Given the description of an element on the screen output the (x, y) to click on. 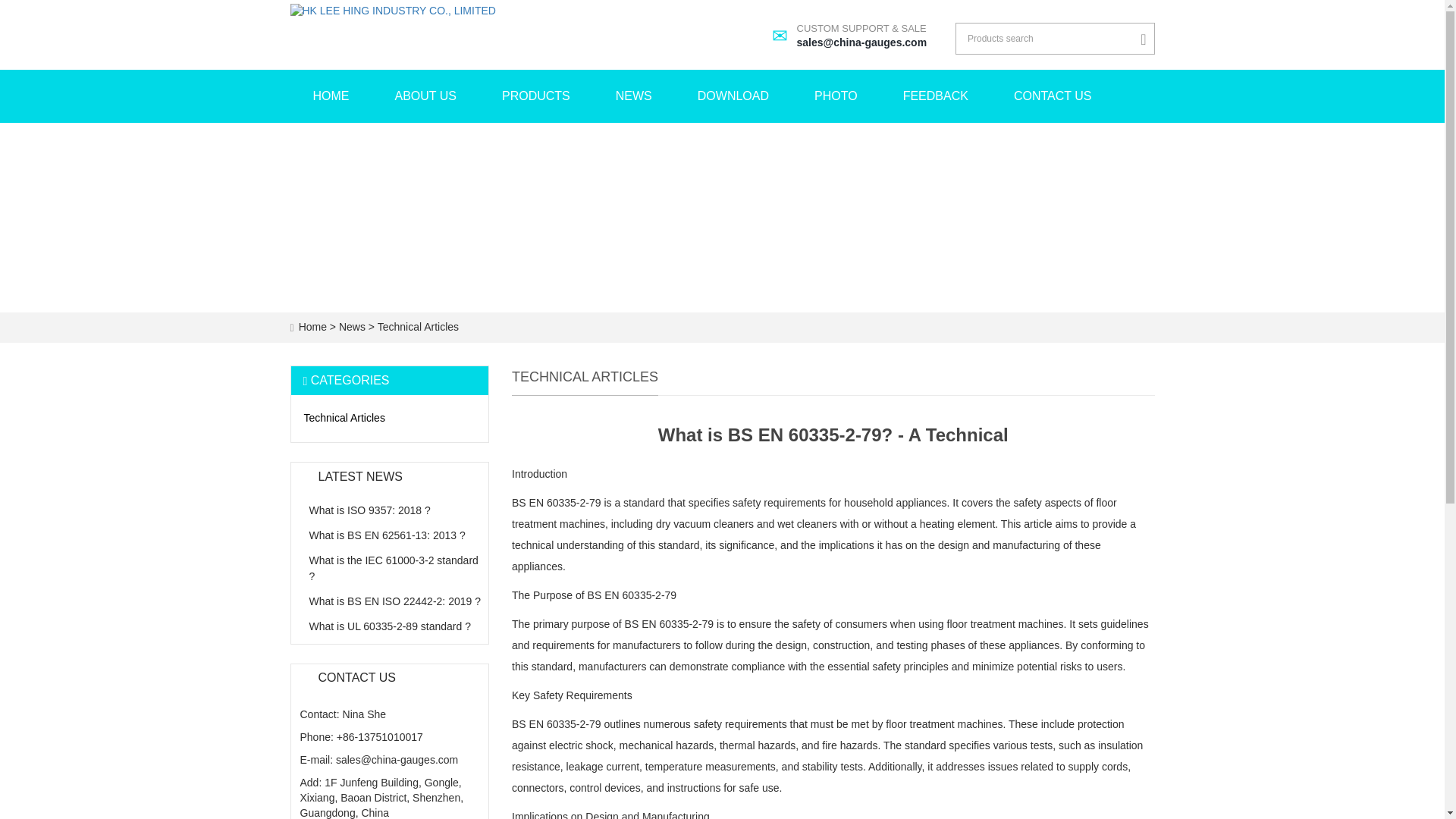
Home (394, 601)
FEEDBACK (312, 326)
CONTACT US (935, 95)
HOME (1053, 95)
News (330, 95)
NEWS (353, 326)
PHOTO (633, 95)
ABOUT US (836, 95)
